Given the description of an element on the screen output the (x, y) to click on. 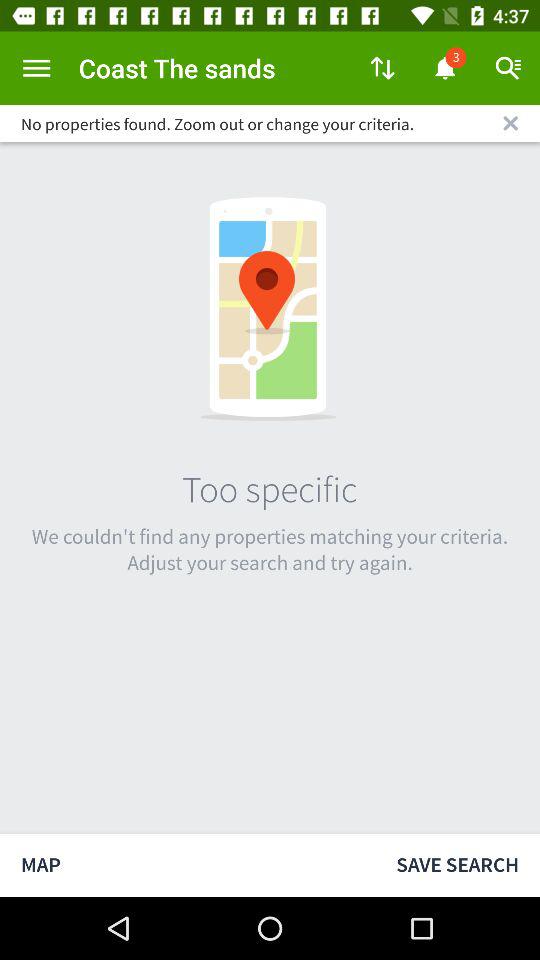
jump to save search (457, 864)
